Given the description of an element on the screen output the (x, y) to click on. 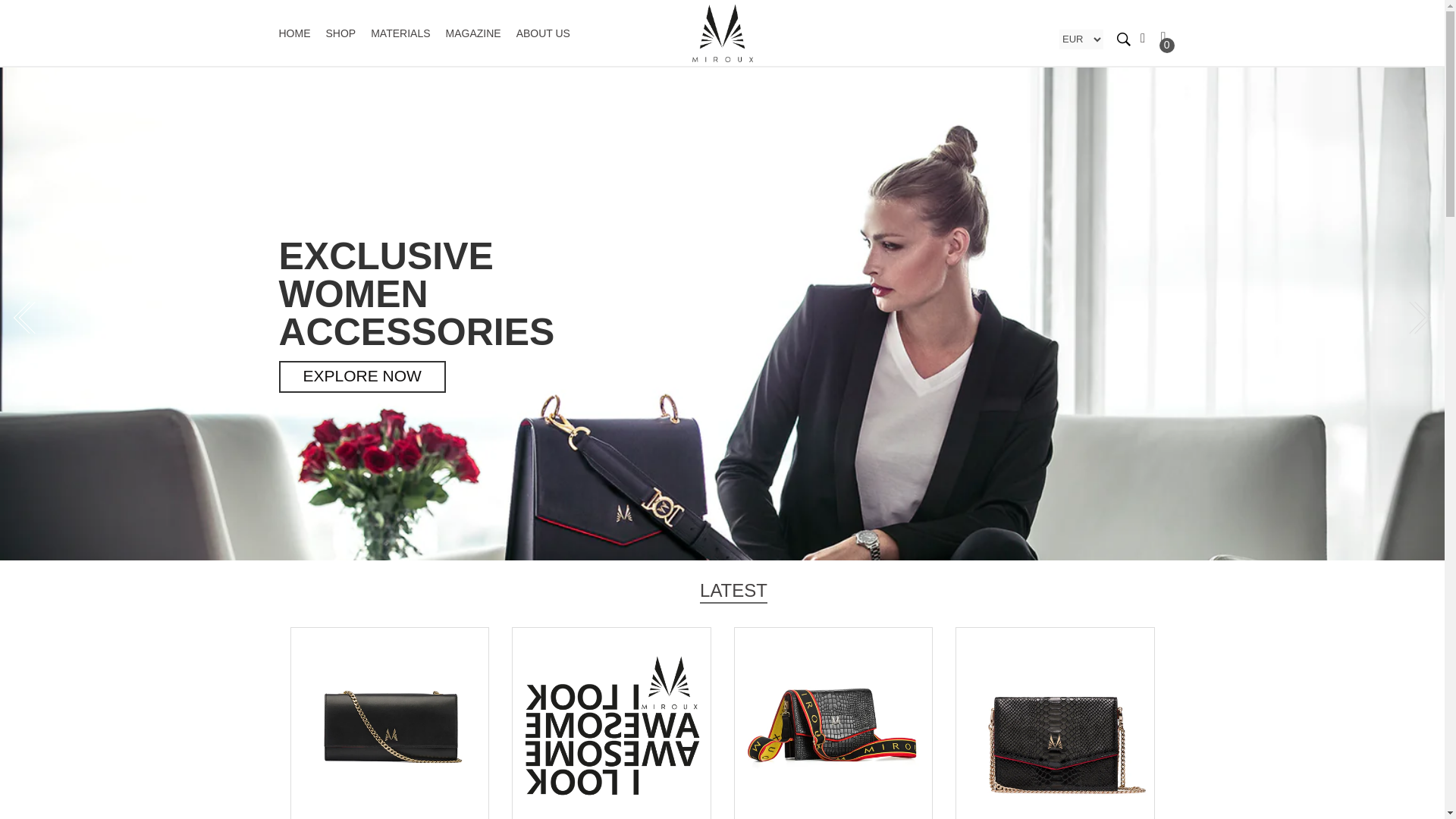
MAGAZINE (472, 33)
EXPLORE NOW (362, 377)
MATERIALS (400, 33)
ABOUT US (543, 33)
miroux.com (721, 33)
